Given the description of an element on the screen output the (x, y) to click on. 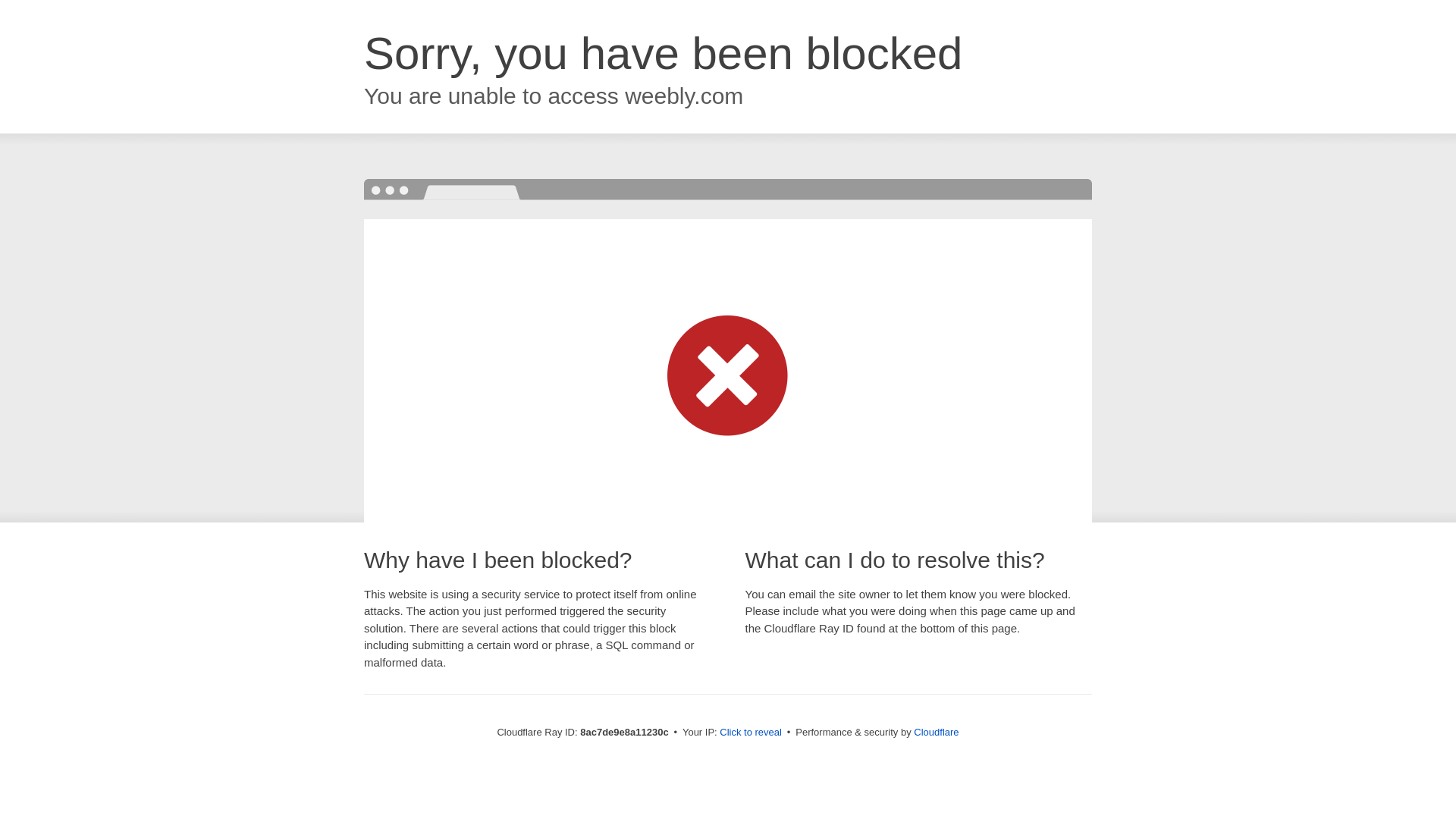
Click to reveal (750, 732)
Cloudflare (936, 731)
